Given the description of an element on the screen output the (x, y) to click on. 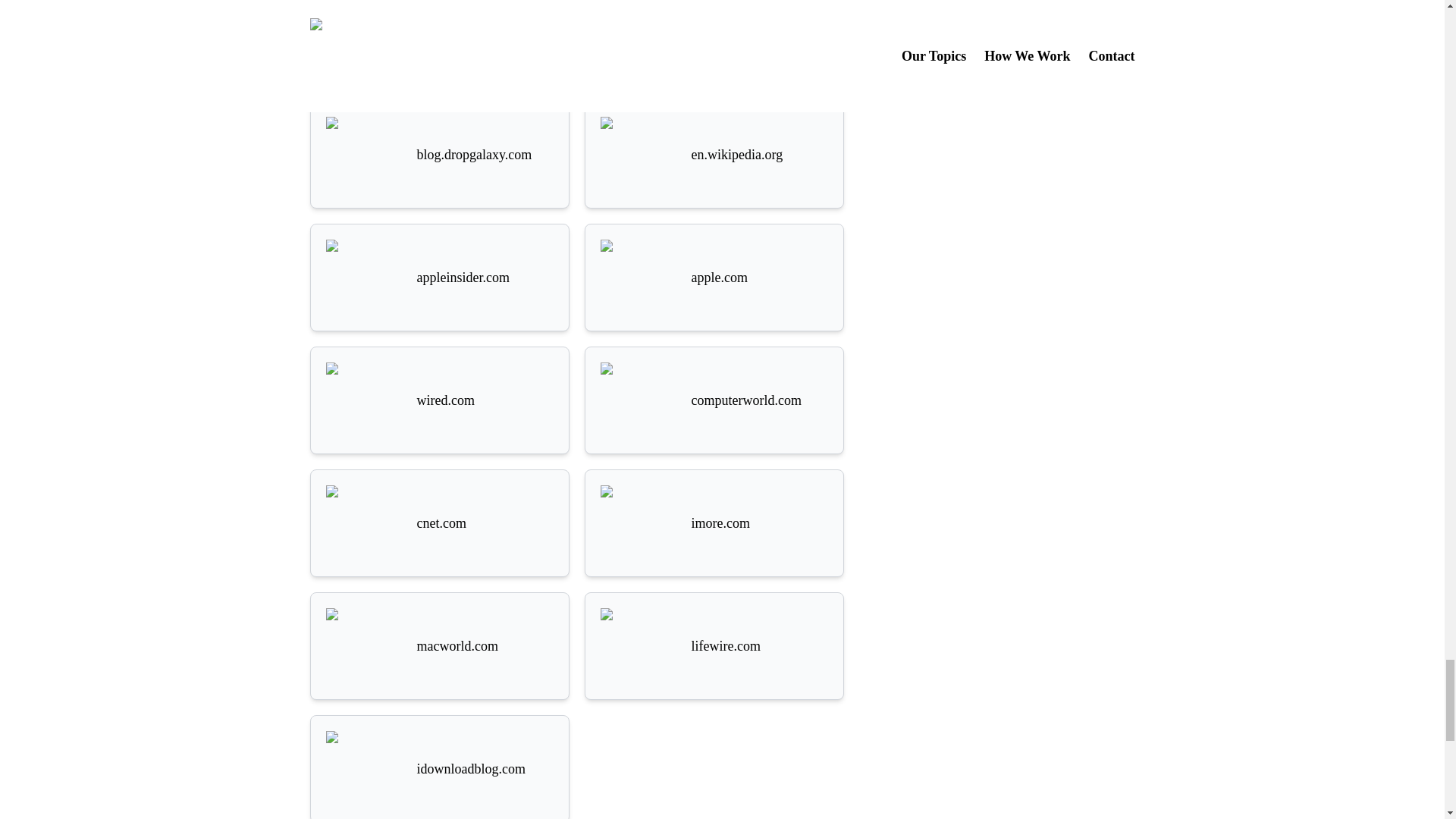
Logo of businessofapps.com (363, 34)
apple.com (713, 277)
computerworld.com (713, 400)
Logo of macworld.com (363, 645)
Logo of computerworld.com (638, 400)
Logo of appleinsider.com (363, 277)
wired.com (439, 400)
Logo of support.apple.com (638, 34)
Logo of apple.com (638, 277)
idownloadblog.com (439, 768)
support.apple.com (713, 34)
blog.dropgalaxy.com (439, 154)
cnet.com (439, 523)
Logo of idownloadblog.com (363, 768)
imore.com (713, 523)
